Given the description of an element on the screen output the (x, y) to click on. 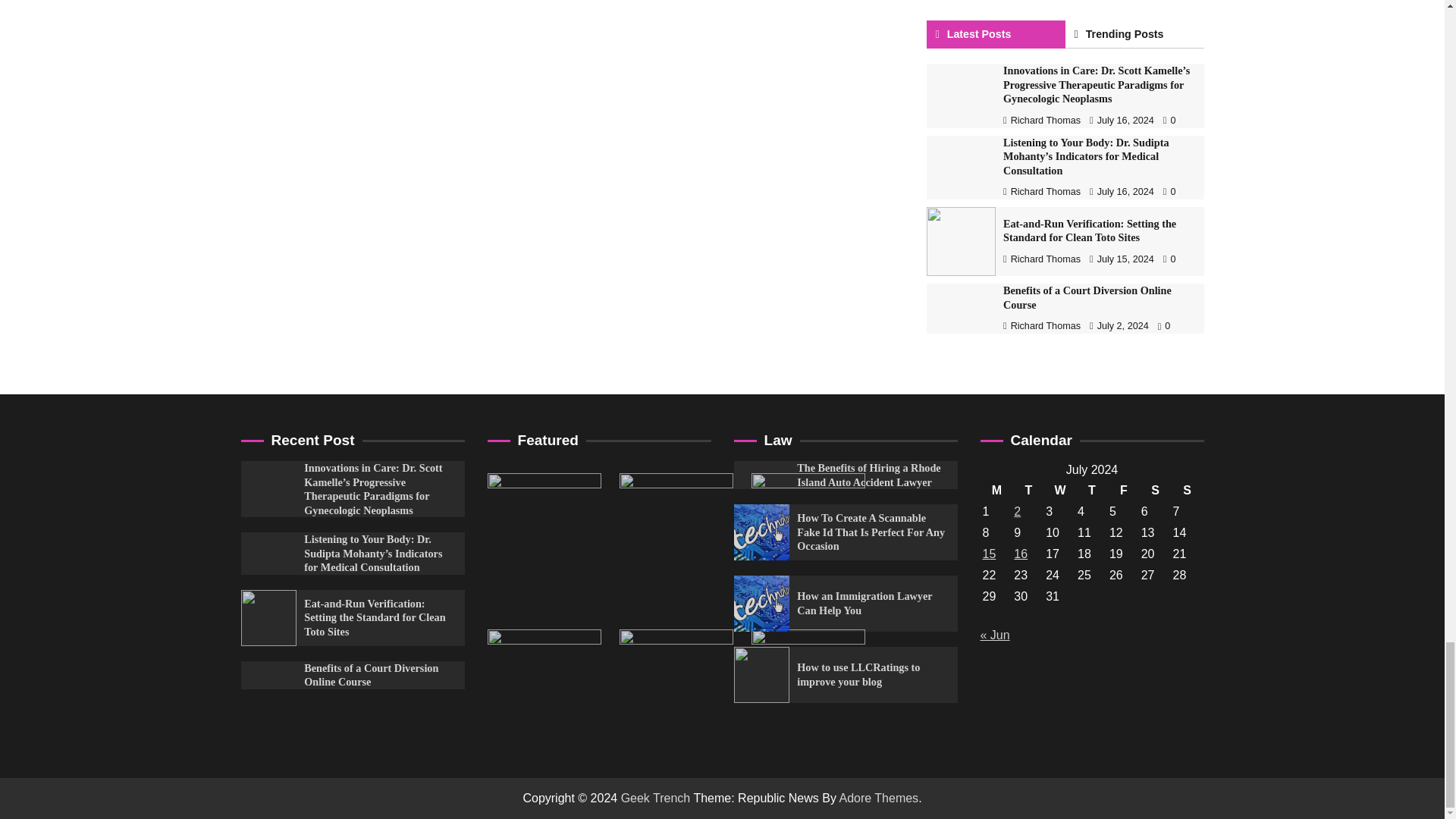
Saturday (1155, 490)
Sunday (1187, 490)
Monday (996, 490)
Friday (1123, 490)
Thursday (1091, 490)
Tuesday (1028, 490)
Wednesday (1060, 490)
